Given the description of an element on the screen output the (x, y) to click on. 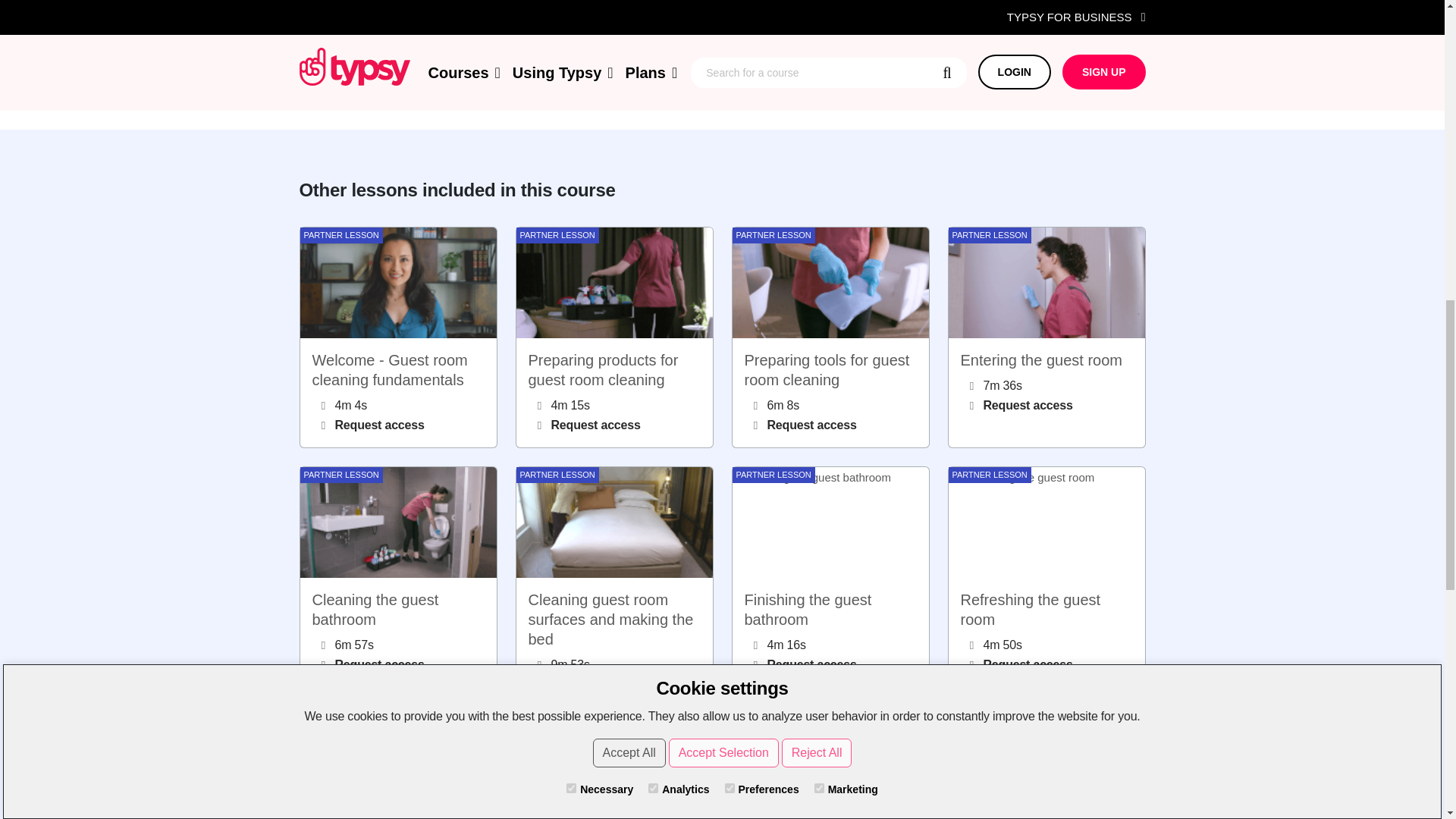
Welcome - Guest room cleaning fundamentals (397, 336)
Entering the guest room (1046, 336)
Conclusion - Guest room cleaning fundamentals (614, 772)
Catering area cleaning (397, 772)
Preparing products for guest room cleaning (614, 336)
Preparing tools for guest room cleaning (829, 336)
